Given the description of an element on the screen output the (x, y) to click on. 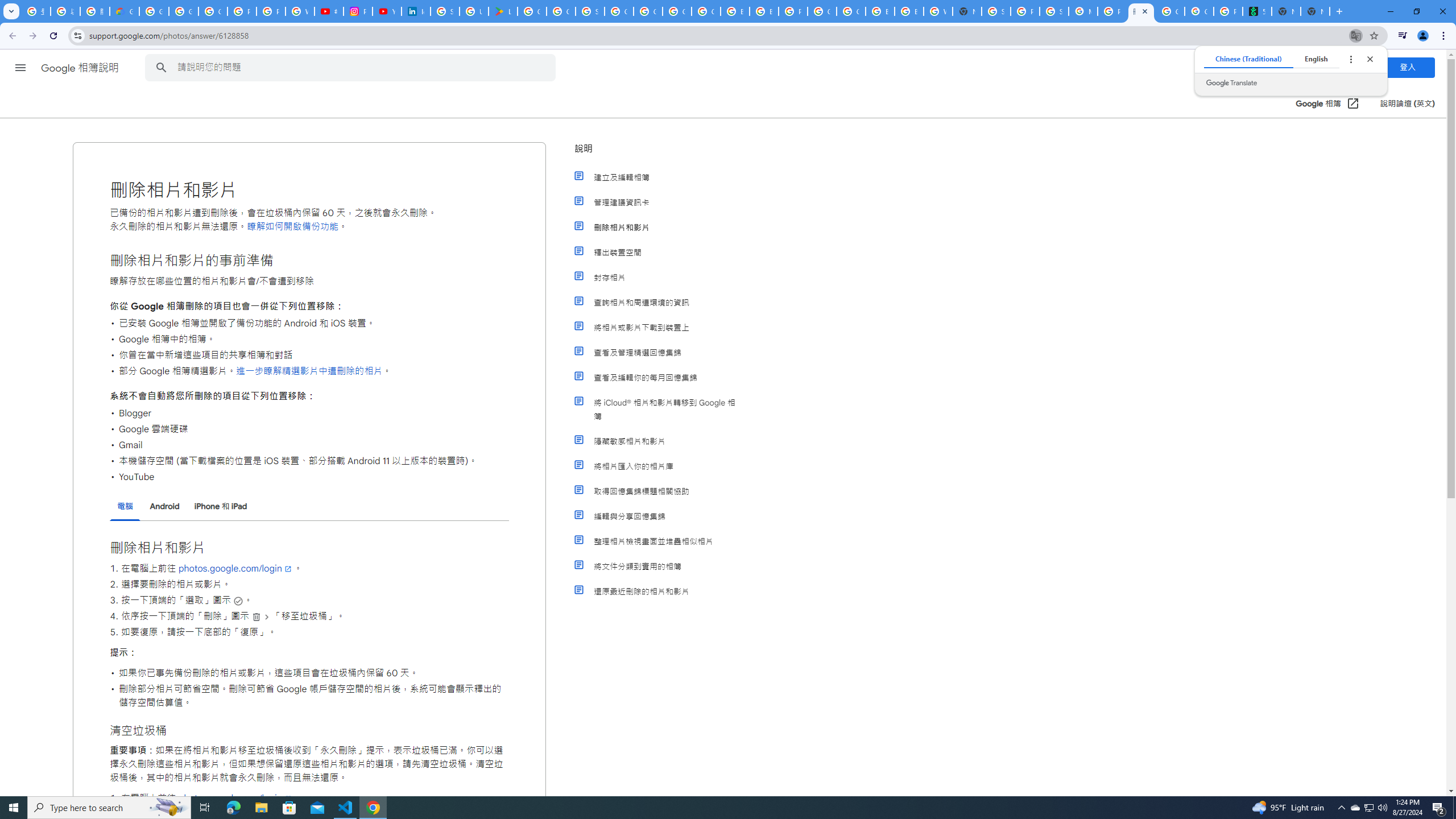
Android (164, 506)
#nbabasketballhighlights - YouTube (327, 11)
Google Cloud Platform (821, 11)
photos.google.com/login (235, 798)
Sign in - Google Accounts (444, 11)
Last Shelter: Survival - Apps on Google Play (502, 11)
Translate options (1349, 58)
